Given the description of an element on the screen output the (x, y) to click on. 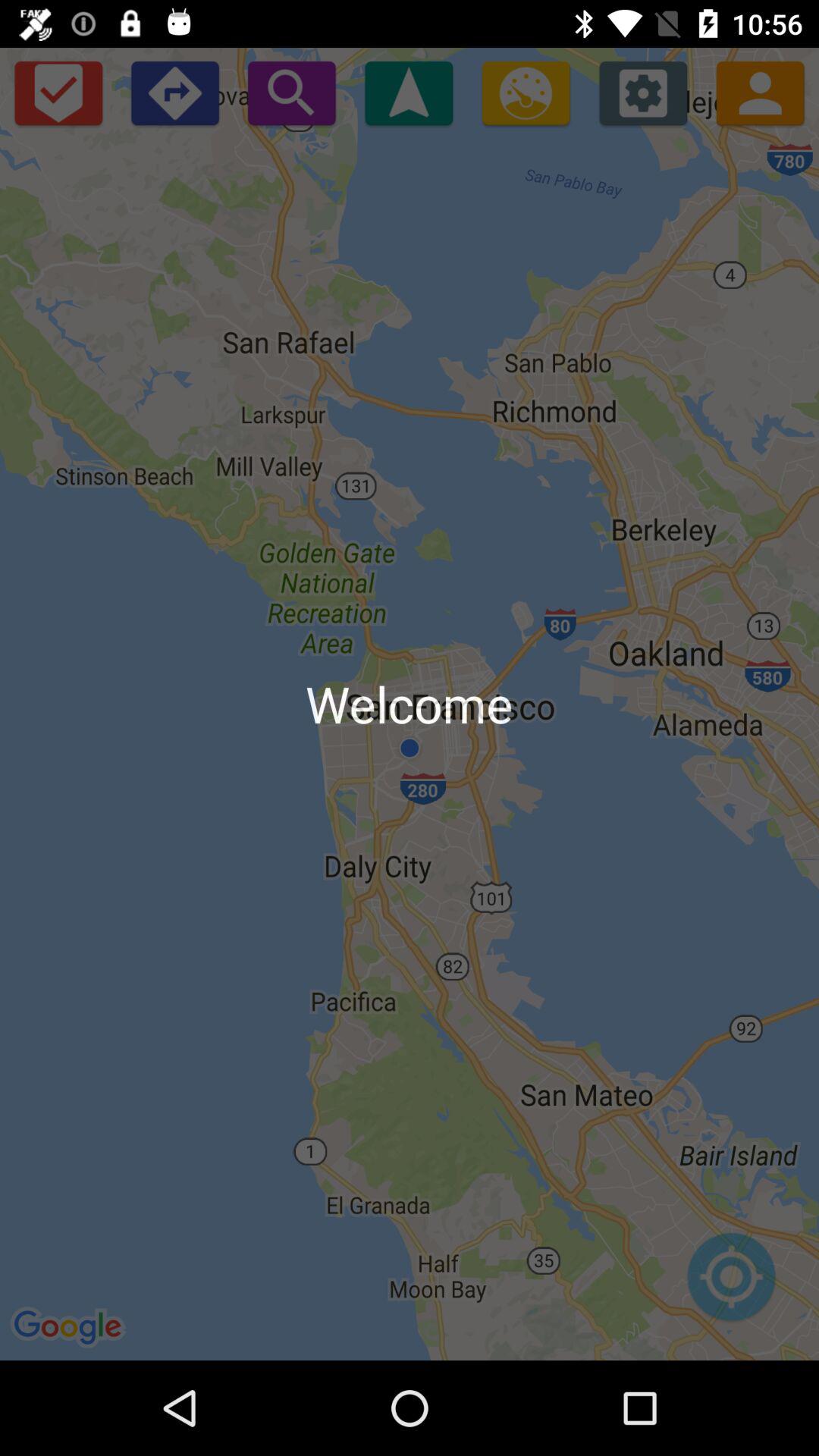
zoom into current location (731, 1284)
